Given the description of an element on the screen output the (x, y) to click on. 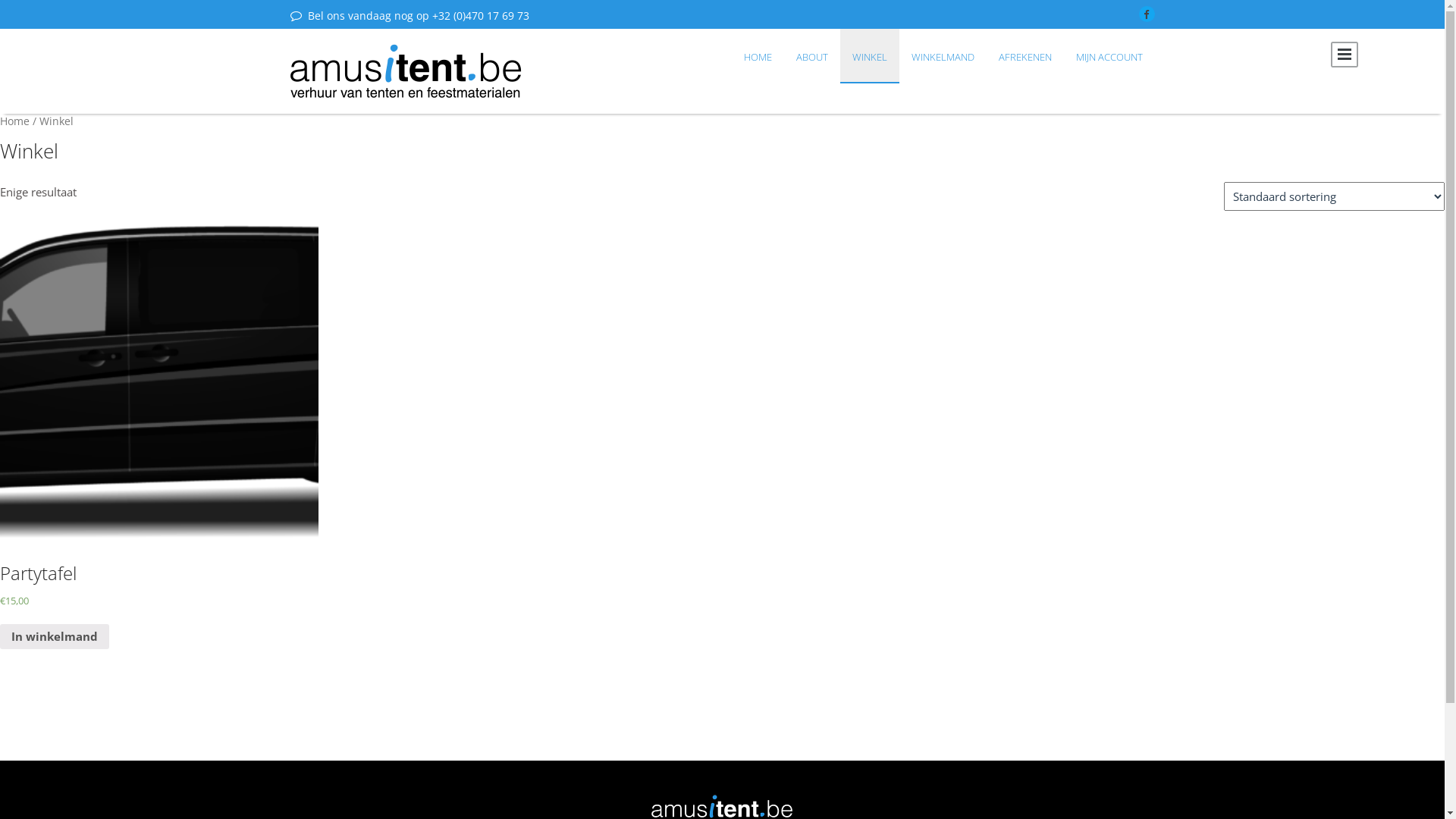
ABOUT Element type: text (812, 55)
WINKEL Element type: text (869, 55)
carwithoutservices2 Element type: hover (159, 381)
In winkelmand Element type: text (54, 636)
FaceBook Element type: hover (1146, 13)
WINKELMAND Element type: text (942, 55)
HOME Element type: text (757, 55)
MIJN ACCOUNT Element type: text (1108, 55)
Home Element type: text (14, 120)
AFREKENEN Element type: text (1024, 55)
